Given the description of an element on the screen output the (x, y) to click on. 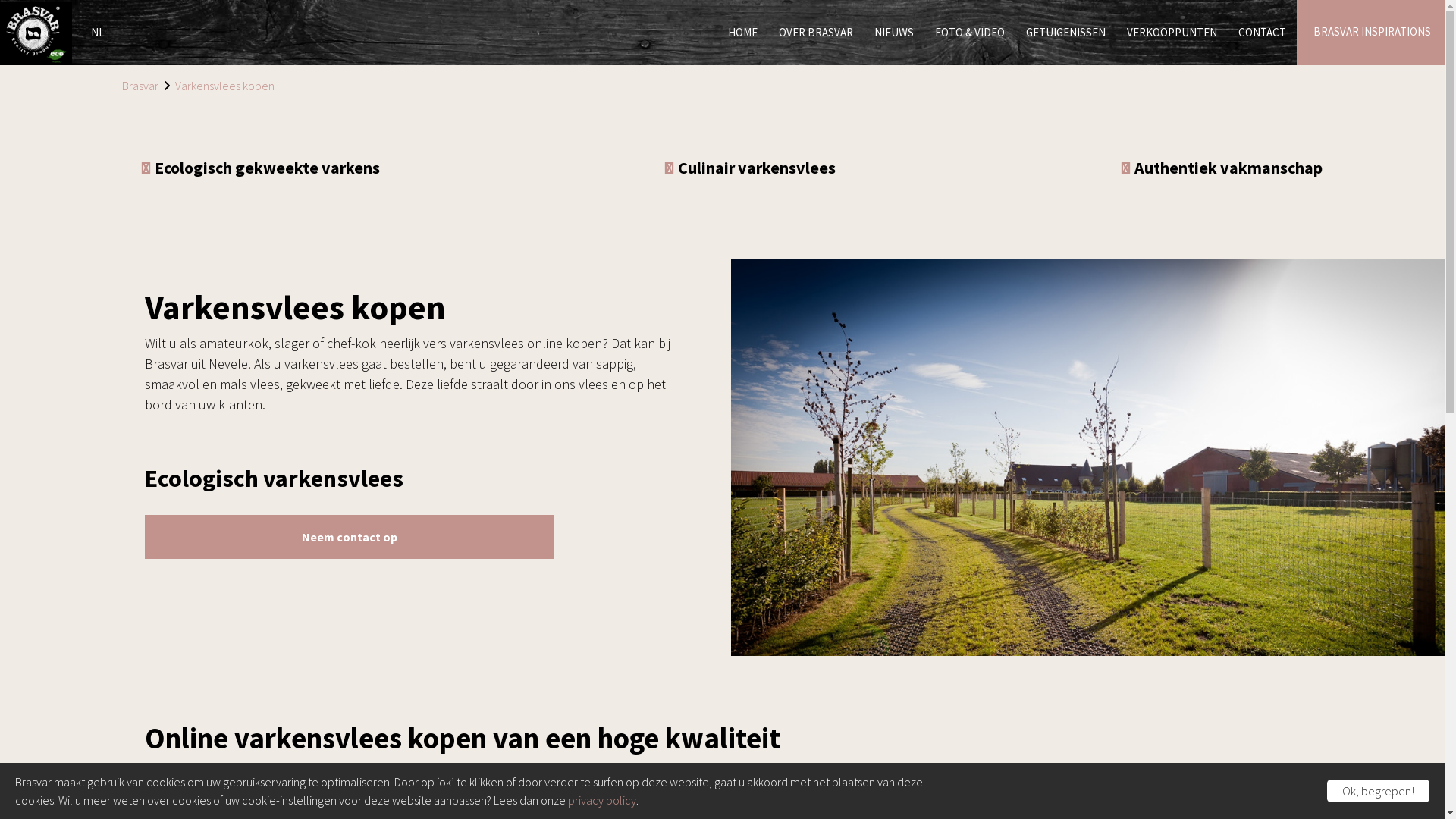
privacy policy Element type: text (601, 799)
Varkensvlees kopen Element type: text (224, 85)
CONTACT Element type: text (1261, 32)
VERKOOPPUNTEN Element type: text (1171, 32)
HOME Element type: text (742, 32)
Neem contact op Element type: text (349, 536)
NL Element type: text (97, 35)
OVER BRASVAR Element type: text (815, 32)
NIEUWS Element type: text (893, 32)
Ok, begrepen! Element type: text (1378, 790)
GETUIGENISSEN Element type: text (1065, 32)
Brasvar Element type: text (140, 85)
duurzaam vlees Element type: text (1092, 790)
BRASVAR INSPIRATIONS Element type: text (1371, 32)
onze verkooppunten Element type: text (1210, 769)
FOTO & VIDEO Element type: text (969, 32)
Belgisch varkensvlees Element type: text (584, 790)
